Given the description of an element on the screen output the (x, y) to click on. 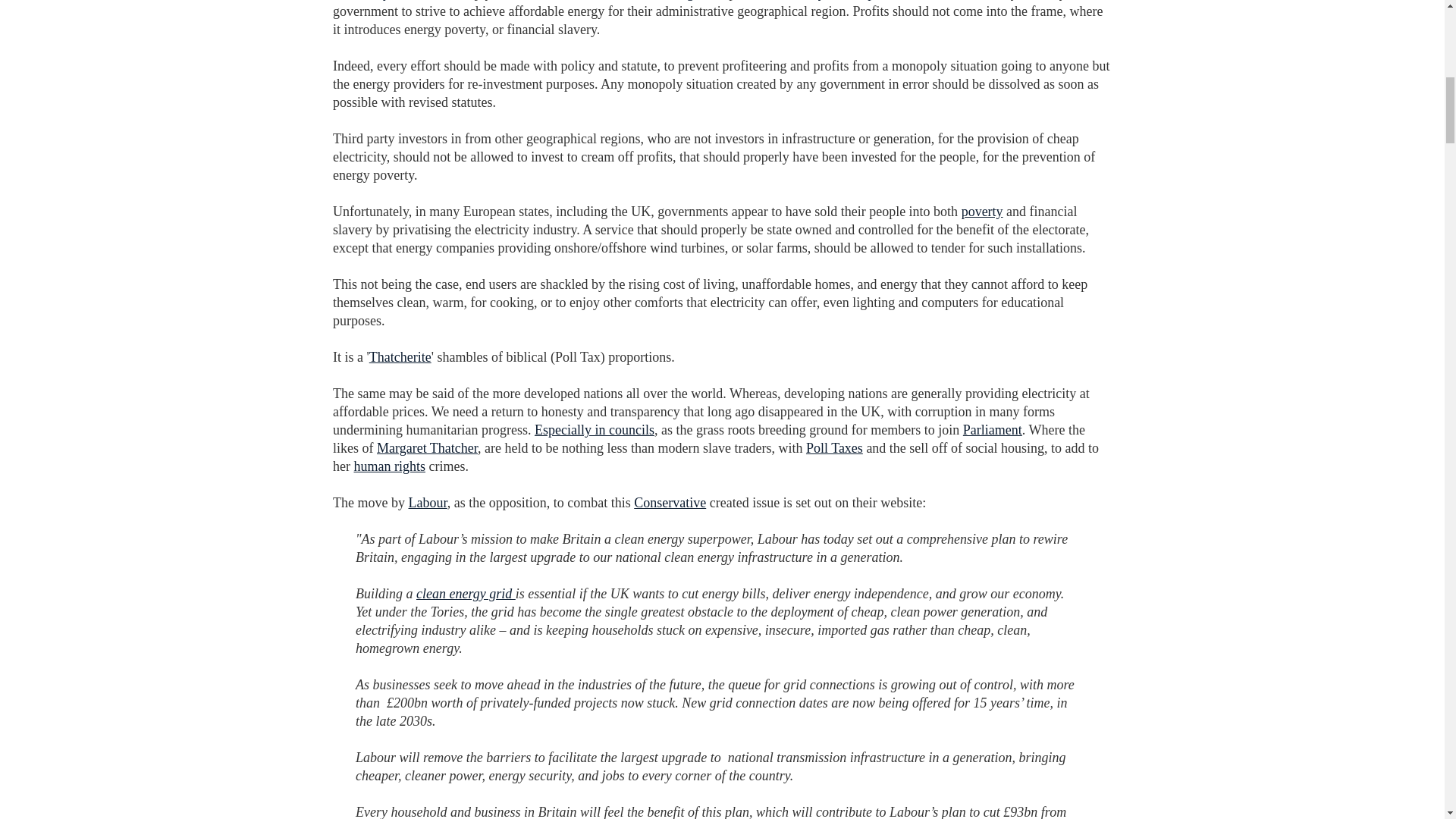
Parliament (992, 429)
Especially in councils (593, 429)
clean energy grid (465, 593)
human rights (389, 466)
Poll Taxes (834, 447)
Labour (426, 502)
Thatcherite (399, 356)
Conservative (669, 502)
Margaret Thatcher (427, 447)
